Given the description of an element on the screen output the (x, y) to click on. 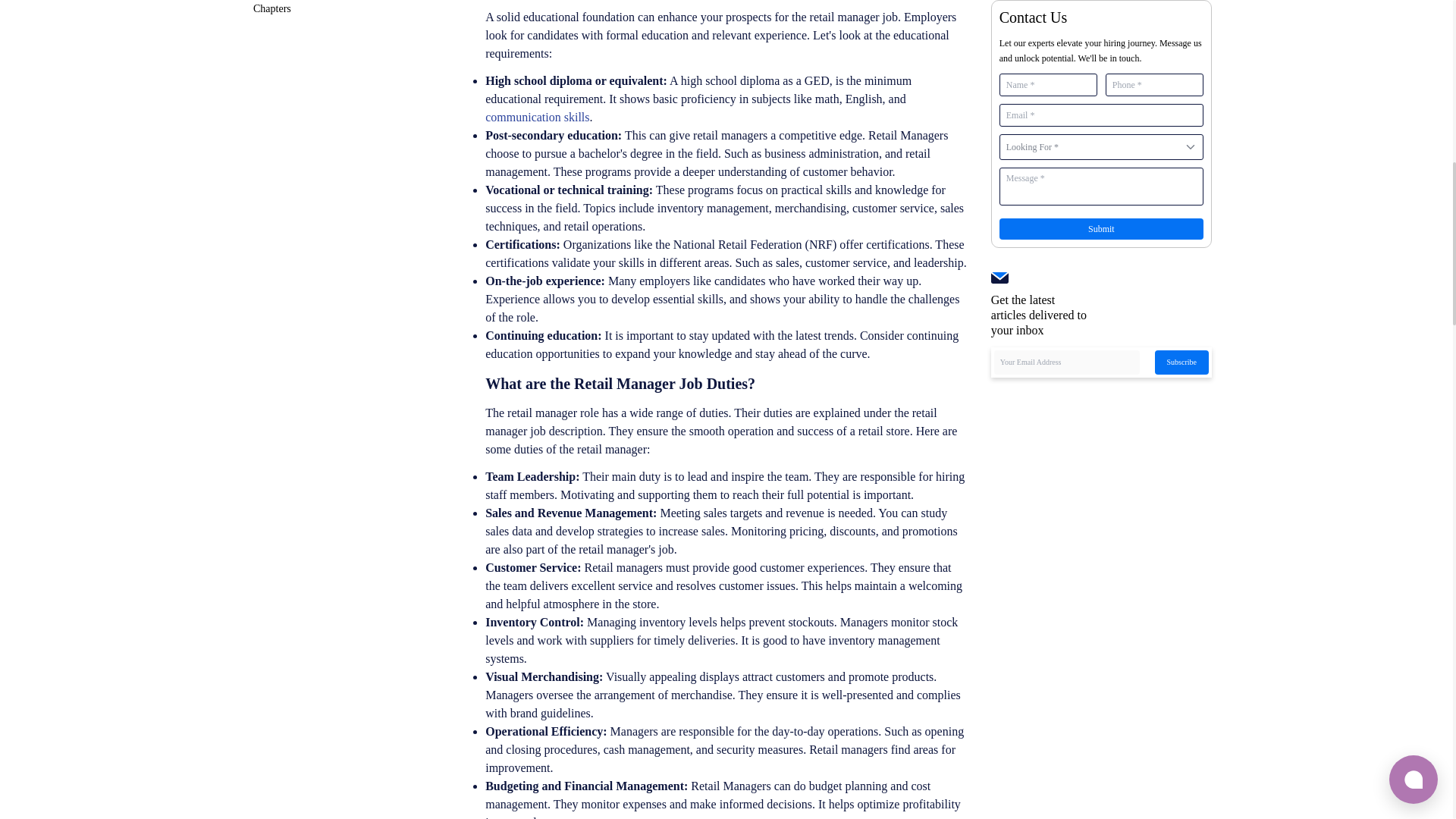
communication skills (536, 116)
